Given the description of an element on the screen output the (x, y) to click on. 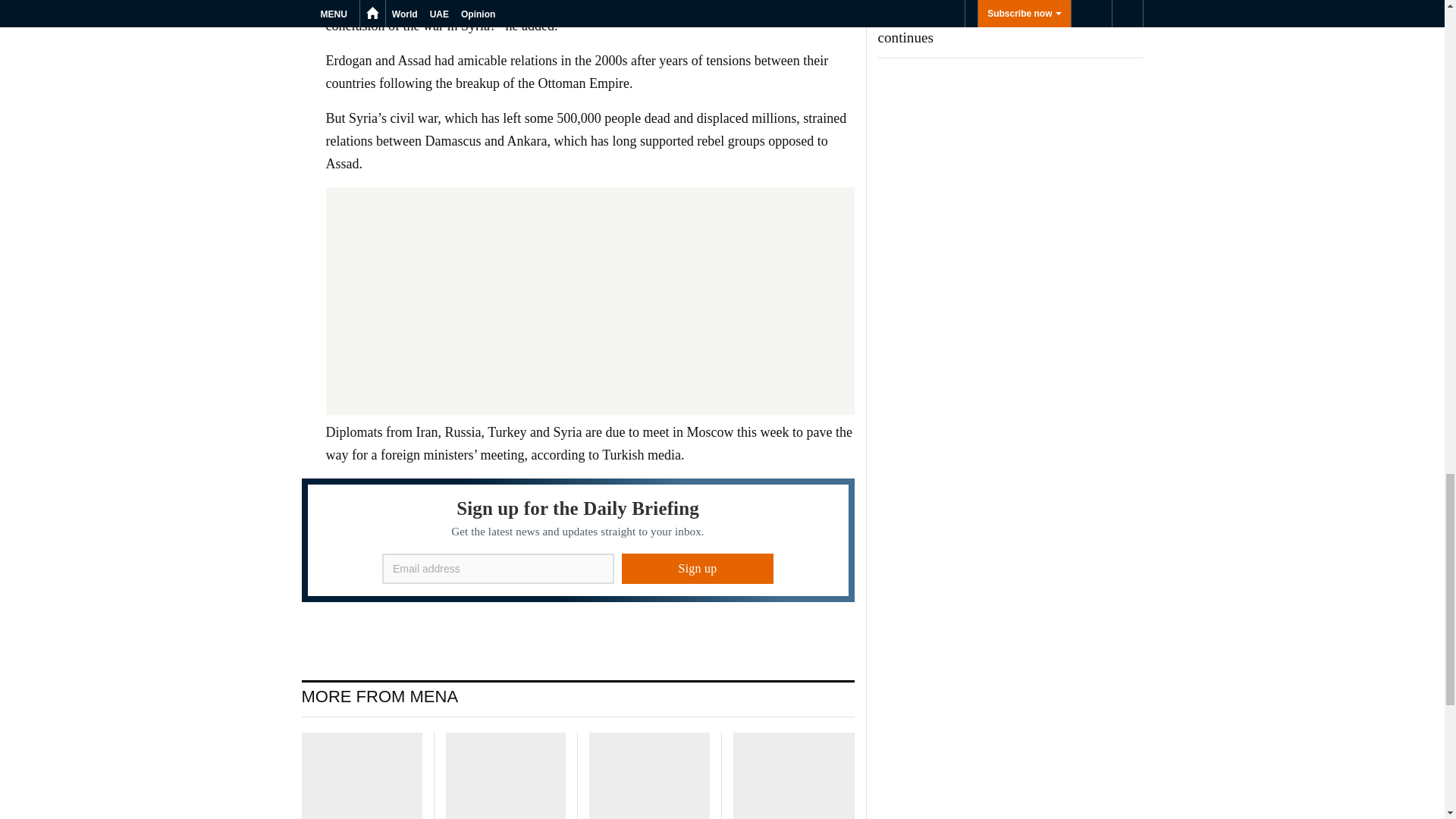
Sign up for the Daily Briefing (577, 539)
